Given the description of an element on the screen output the (x, y) to click on. 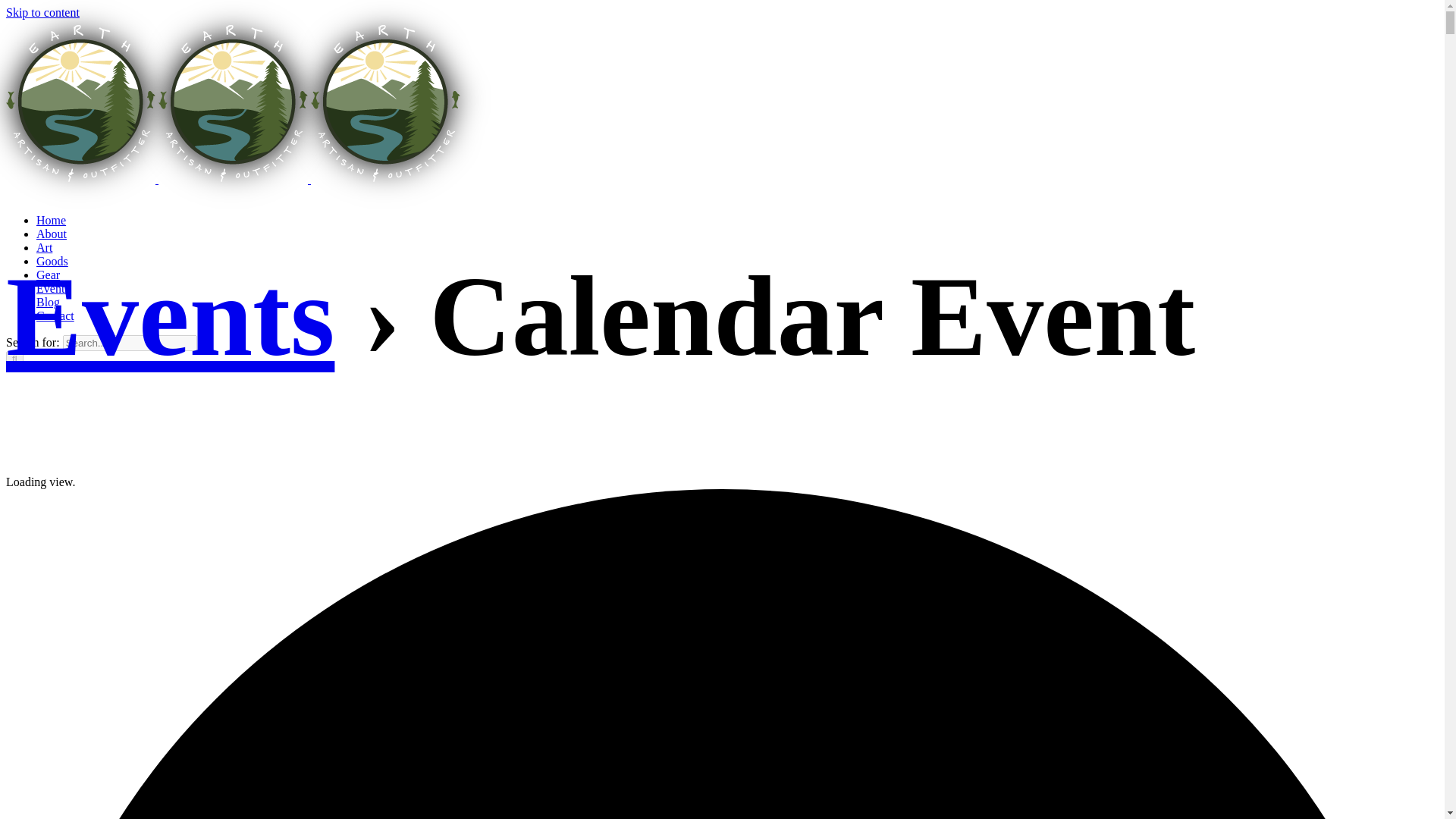
Contact (55, 315)
Gear (47, 274)
Art (44, 246)
Home (50, 219)
Events (52, 287)
Skip to content (42, 11)
About (51, 233)
Blog (47, 301)
Events (169, 316)
Goods (52, 260)
